Given the description of an element on the screen output the (x, y) to click on. 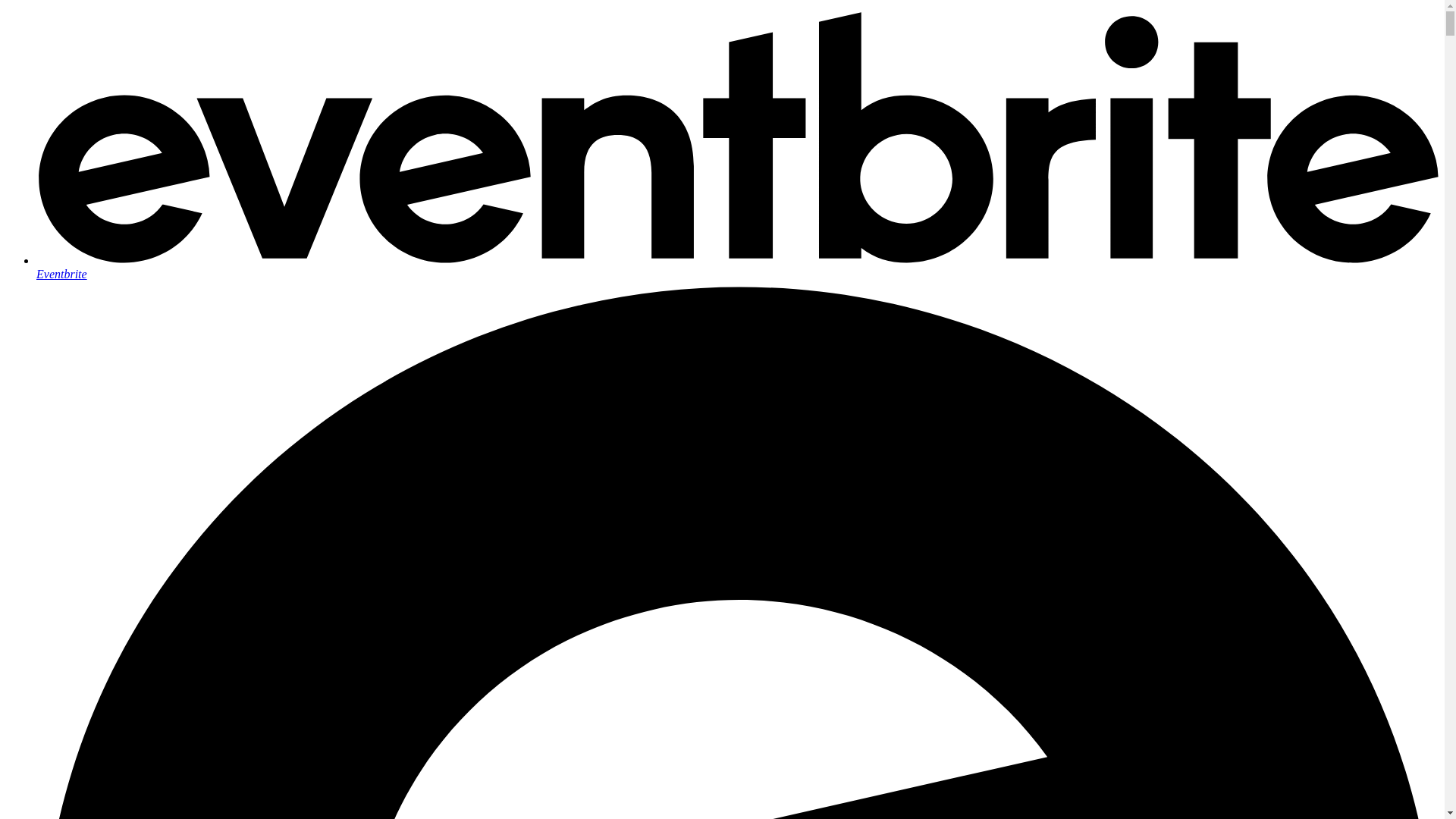
Eventbrite Element type: text (737, 267)
